Given the description of an element on the screen output the (x, y) to click on. 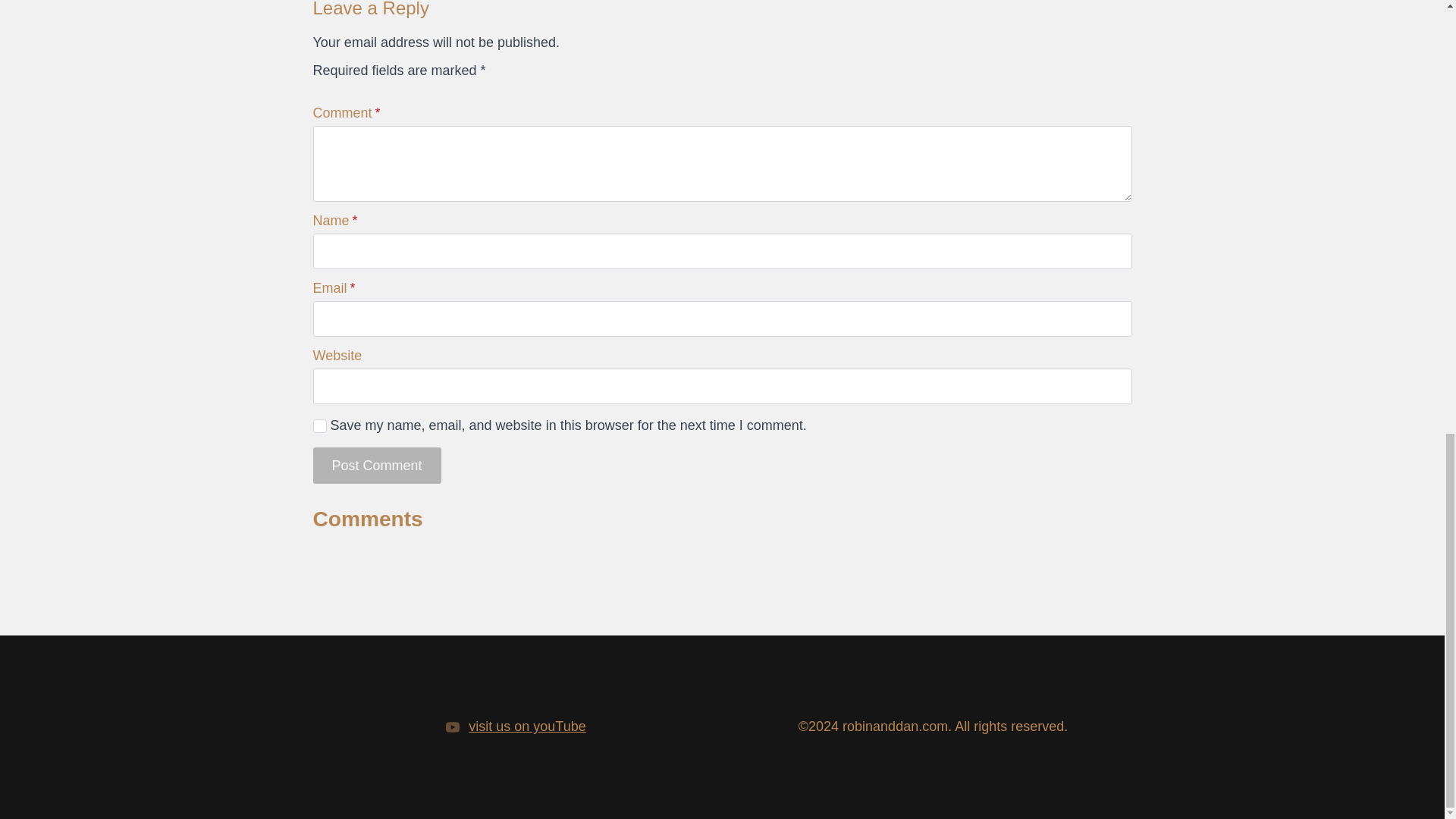
visit us on youTube (526, 726)
Post Comment (377, 465)
yes (319, 426)
Post Comment (377, 465)
